Given the description of an element on the screen output the (x, y) to click on. 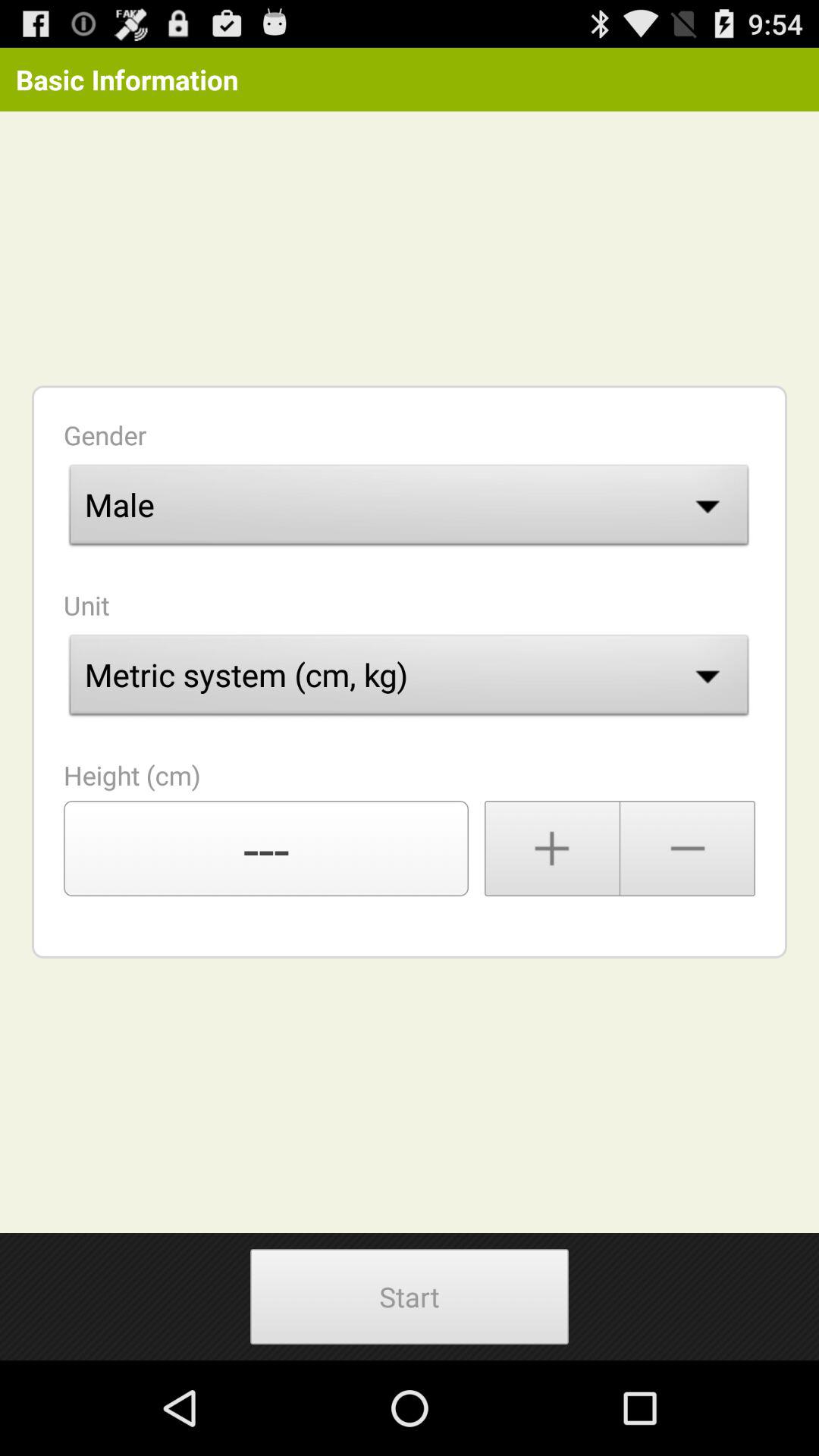
subtract cm from height (687, 848)
